Given the description of an element on the screen output the (x, y) to click on. 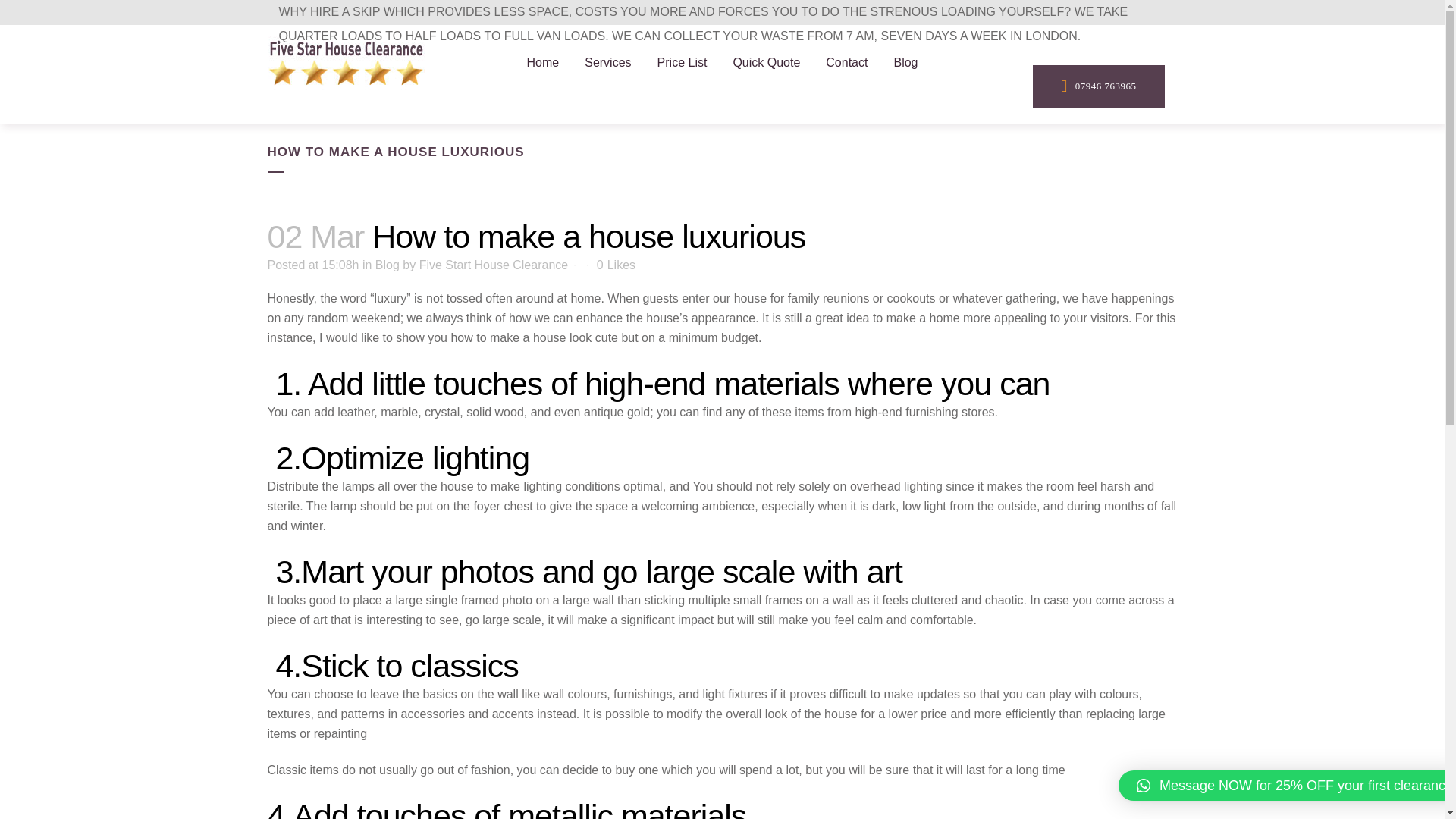
Contact (846, 62)
07946 763965 (1097, 86)
Price List (682, 62)
Quick Quote (765, 62)
Blog (386, 264)
Services (607, 62)
Like this (615, 265)
Five Start House Clearance (494, 264)
0 Likes (615, 265)
